Given the description of an element on the screen output the (x, y) to click on. 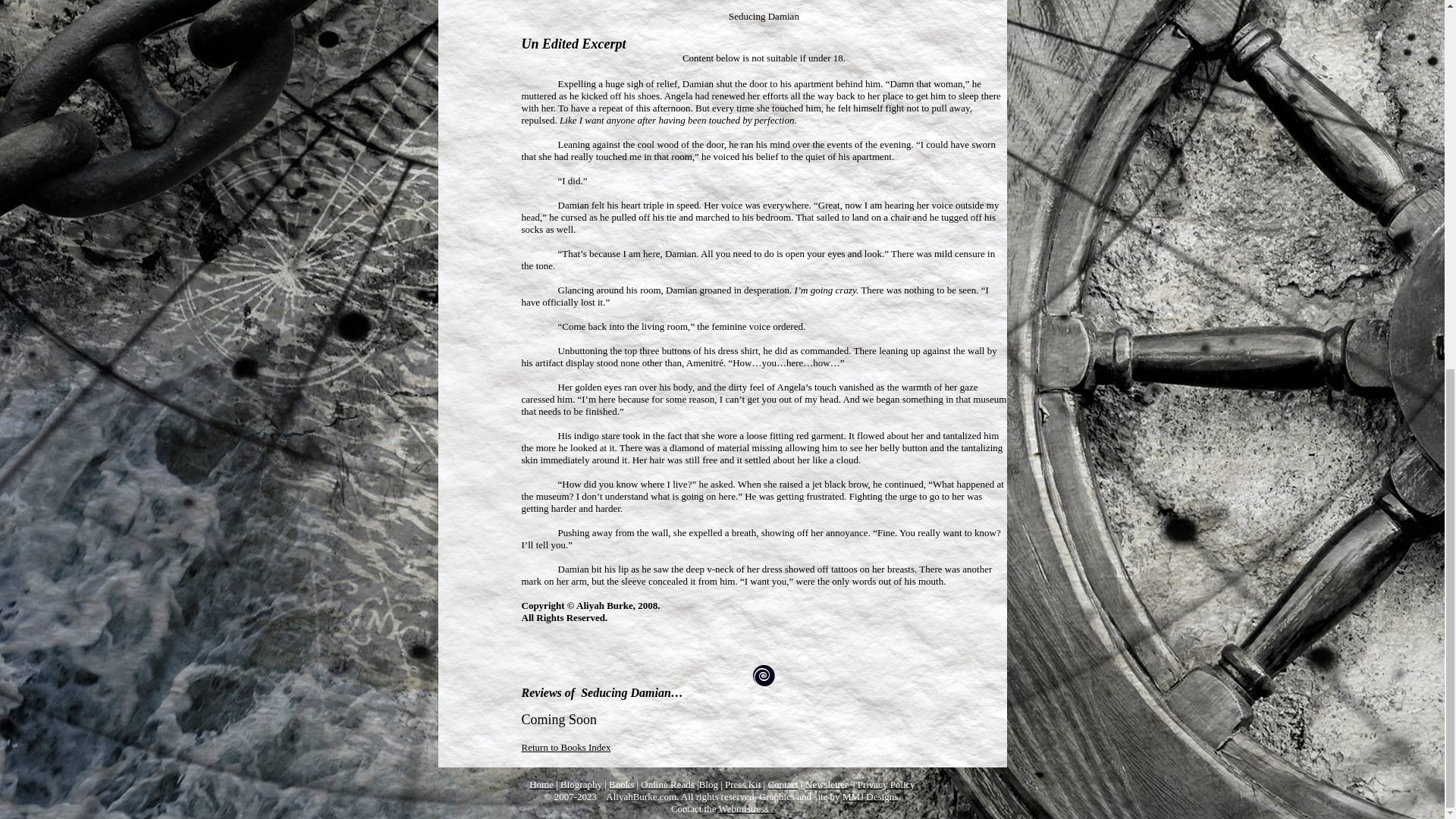
Blog (709, 784)
Online Reads (667, 784)
Contact (782, 784)
Reviews (541, 692)
Webmistress (742, 808)
Books (620, 784)
Home (542, 784)
Return to Books Index (566, 747)
Excerpt (604, 43)
MMJ Designs (870, 796)
Privacy Policy (886, 784)
Newsletter (826, 784)
Biography (581, 784)
Press Kit  (743, 784)
